Given the description of an element on the screen output the (x, y) to click on. 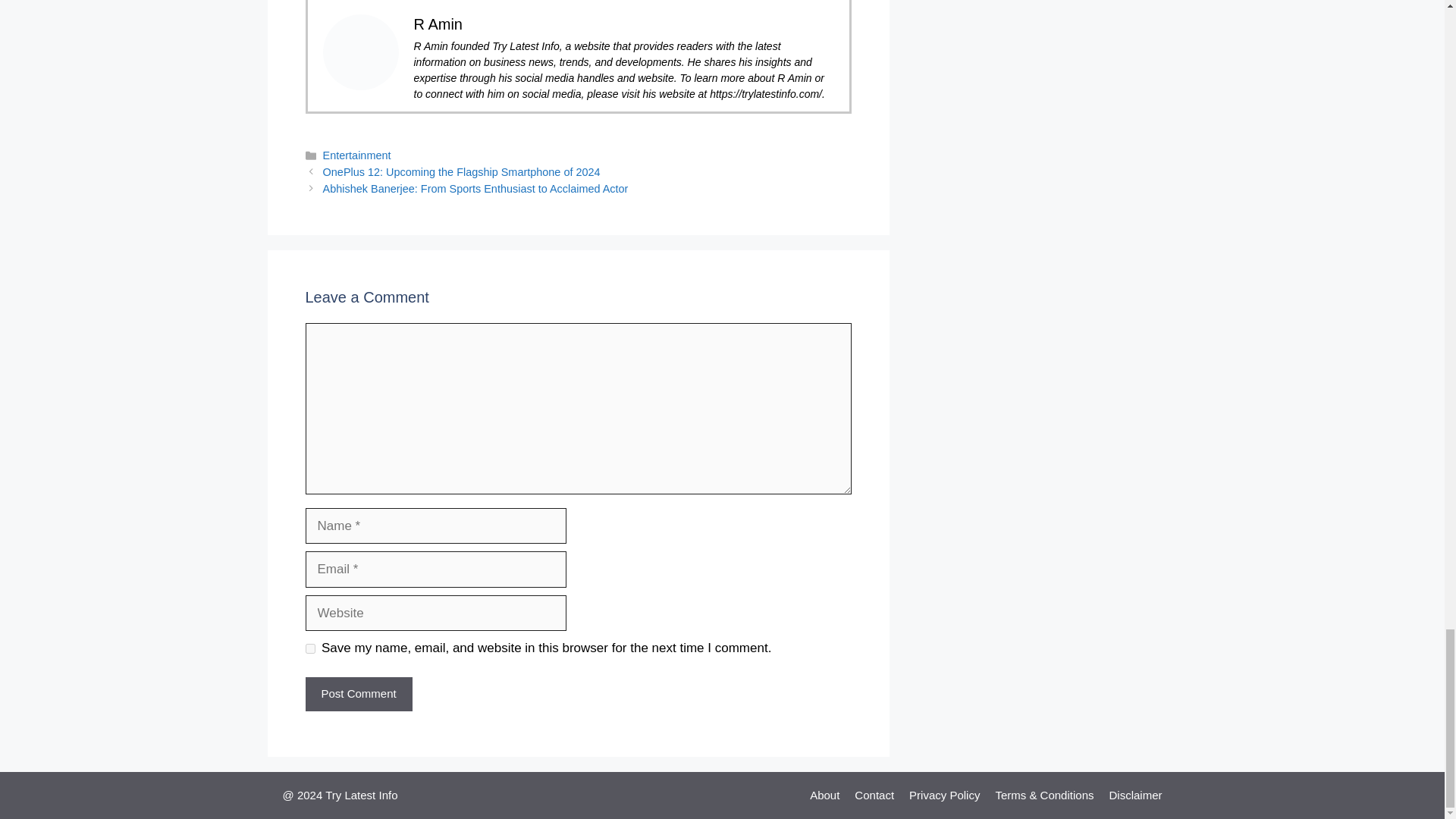
yes (309, 648)
Post Comment (358, 694)
R Amin (438, 23)
